Given the description of an element on the screen output the (x, y) to click on. 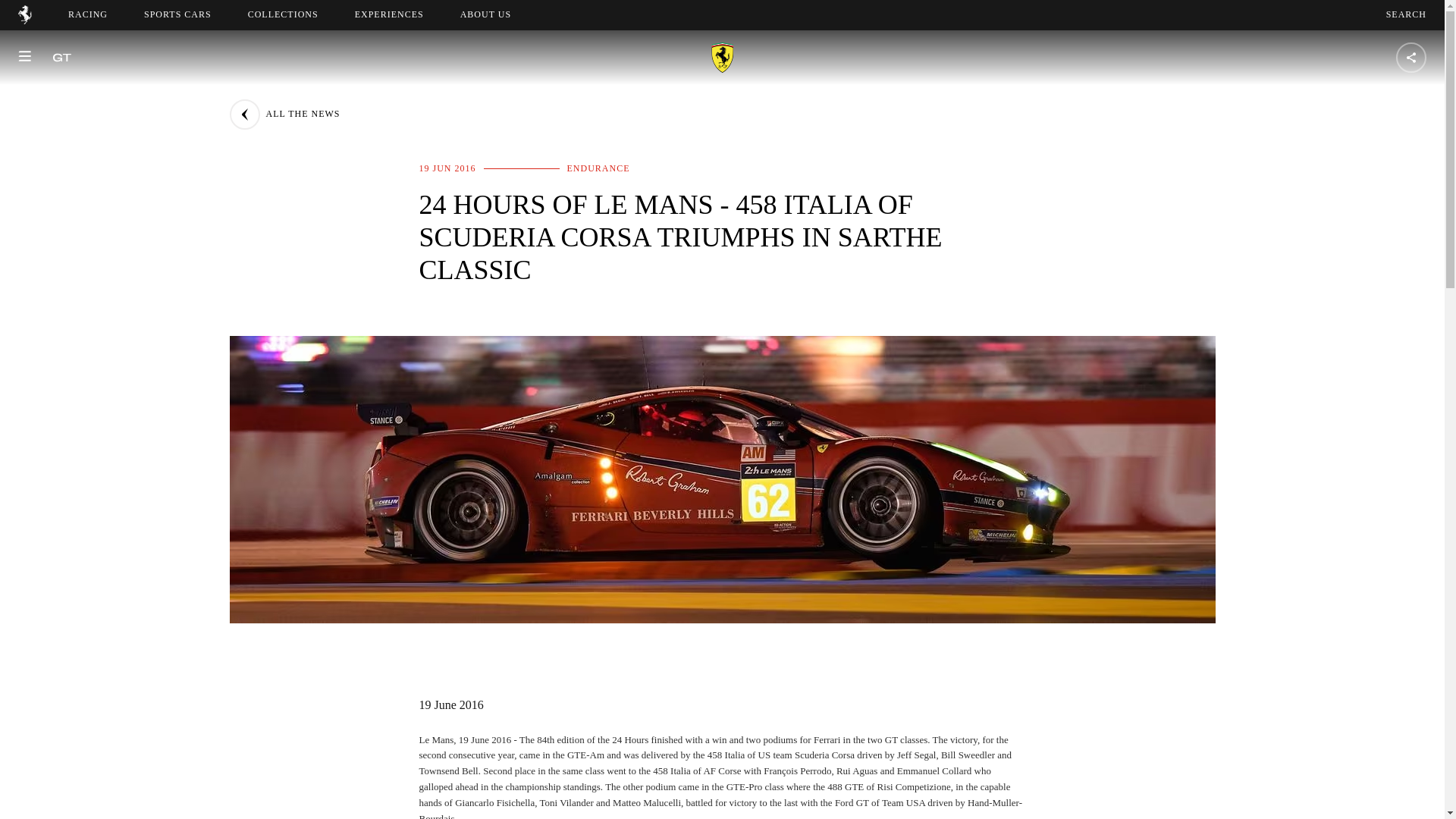
Ferrari logo (24, 19)
Ferrari logo (24, 14)
COLLECTIONS (282, 14)
EXPERIENCES (389, 14)
ABOUT US (485, 14)
SPORTS CARS (499, 14)
SEARCH (177, 14)
RACING (1406, 14)
ALL THE NEWS (87, 14)
